Given the description of an element on the screen output the (x, y) to click on. 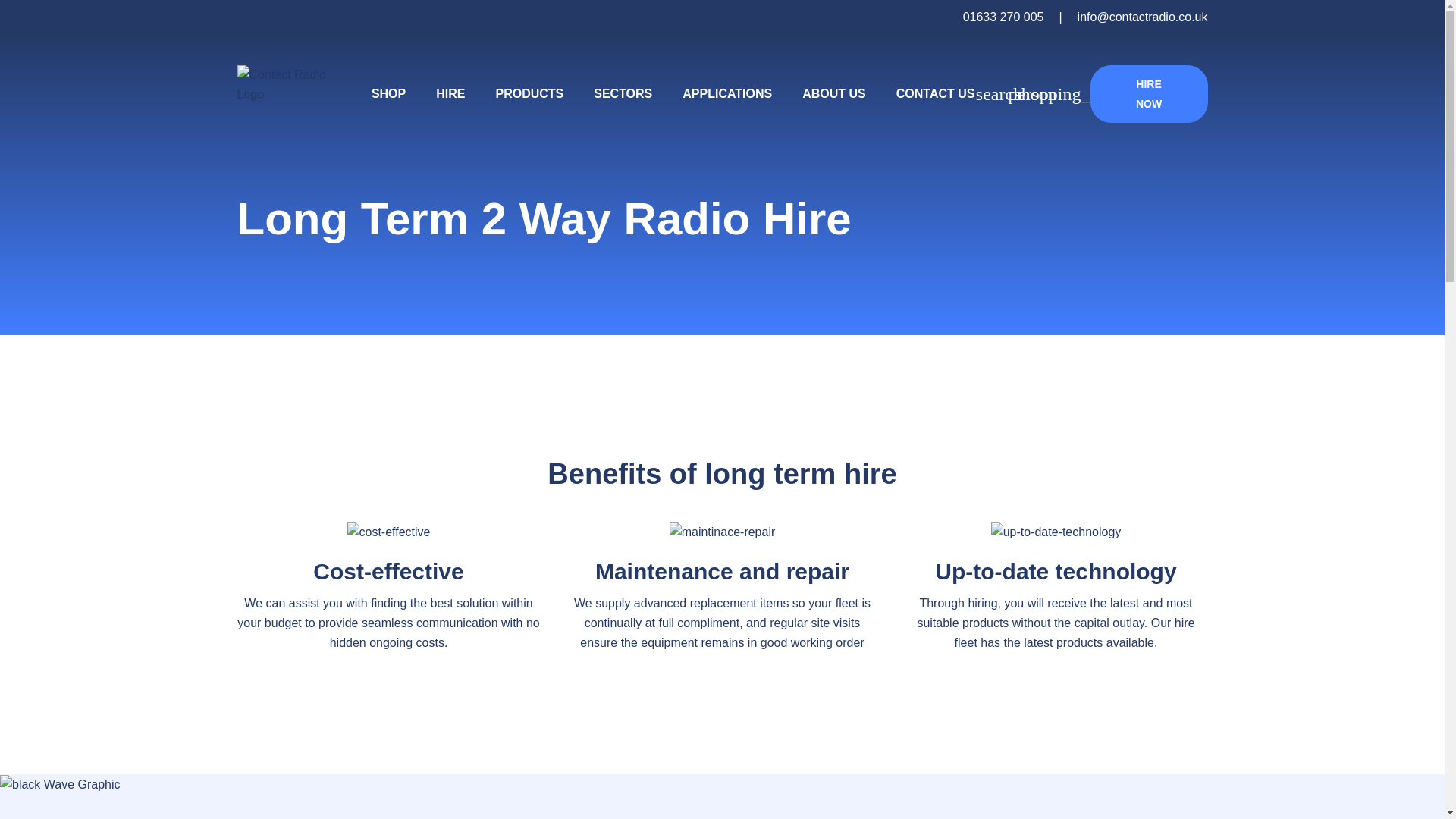
CONTACT US (935, 94)
HIRE NOW (1149, 93)
person (1032, 94)
APPLICATIONS (726, 94)
SHOP (388, 94)
PRODUCTS (529, 94)
HIRE (449, 94)
ABOUT US (834, 94)
01633 270 005 (1002, 17)
SECTORS (623, 94)
